Given the description of an element on the screen output the (x, y) to click on. 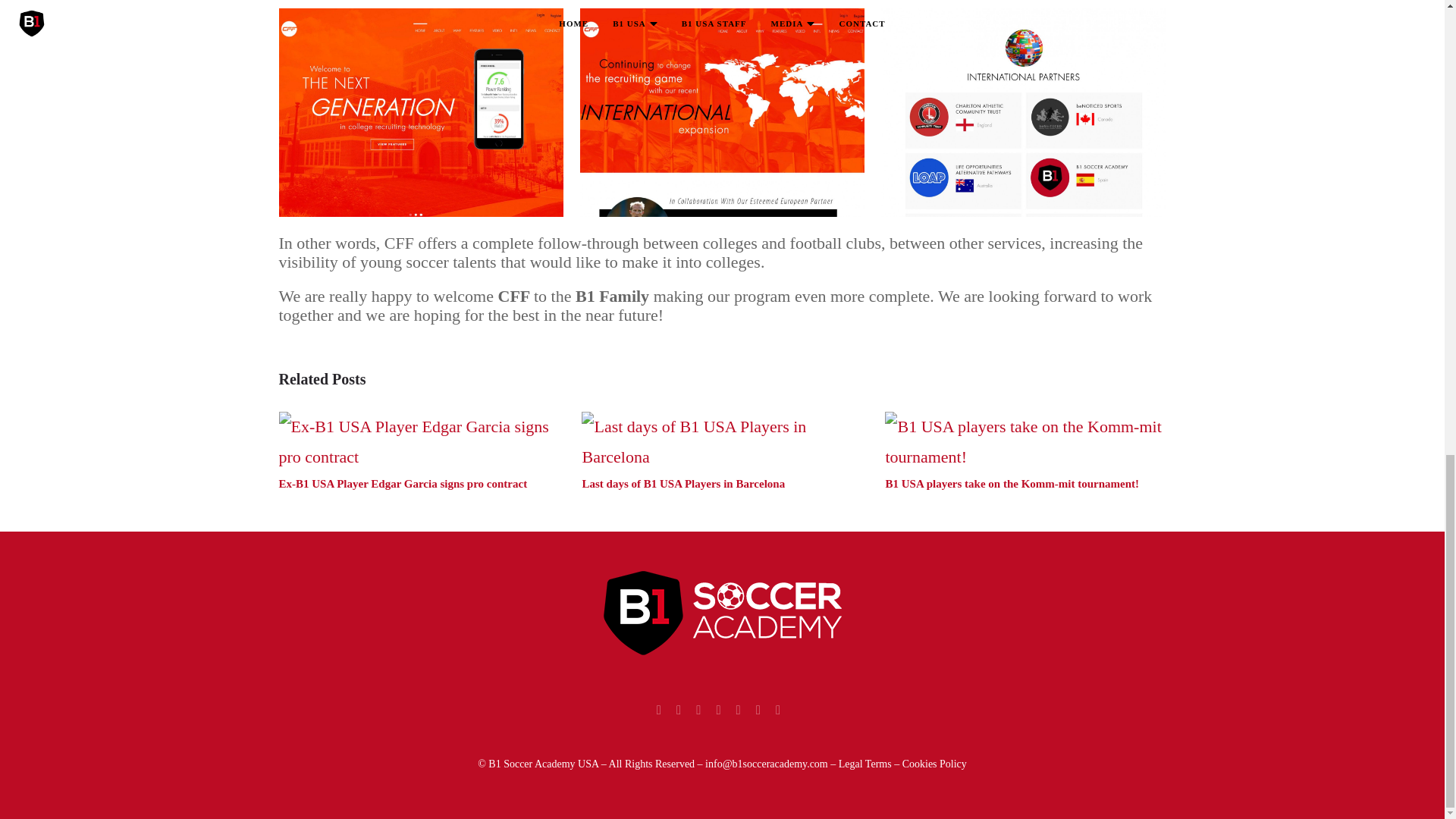
B1 USA players take on the Komm-mit tournament! (1025, 443)
Last days of B1 USA Players in Barcelona (720, 443)
Ex-B1 USA Player Edgar Garcia signs pro contract (419, 443)
B1 USA players take on the Komm-mit tournament! (1011, 483)
Last days of B1 USA Players in Barcelona (682, 483)
Legal Terms  (865, 763)
Ex-B1 USA Player Edgar Garcia signs pro contract (403, 483)
Last days of B1 USA Players in Barcelona (682, 483)
Ex-B1 USA Player Edgar Garcia signs pro contract (403, 483)
Cookies Policy (934, 763)
